Given the description of an element on the screen output the (x, y) to click on. 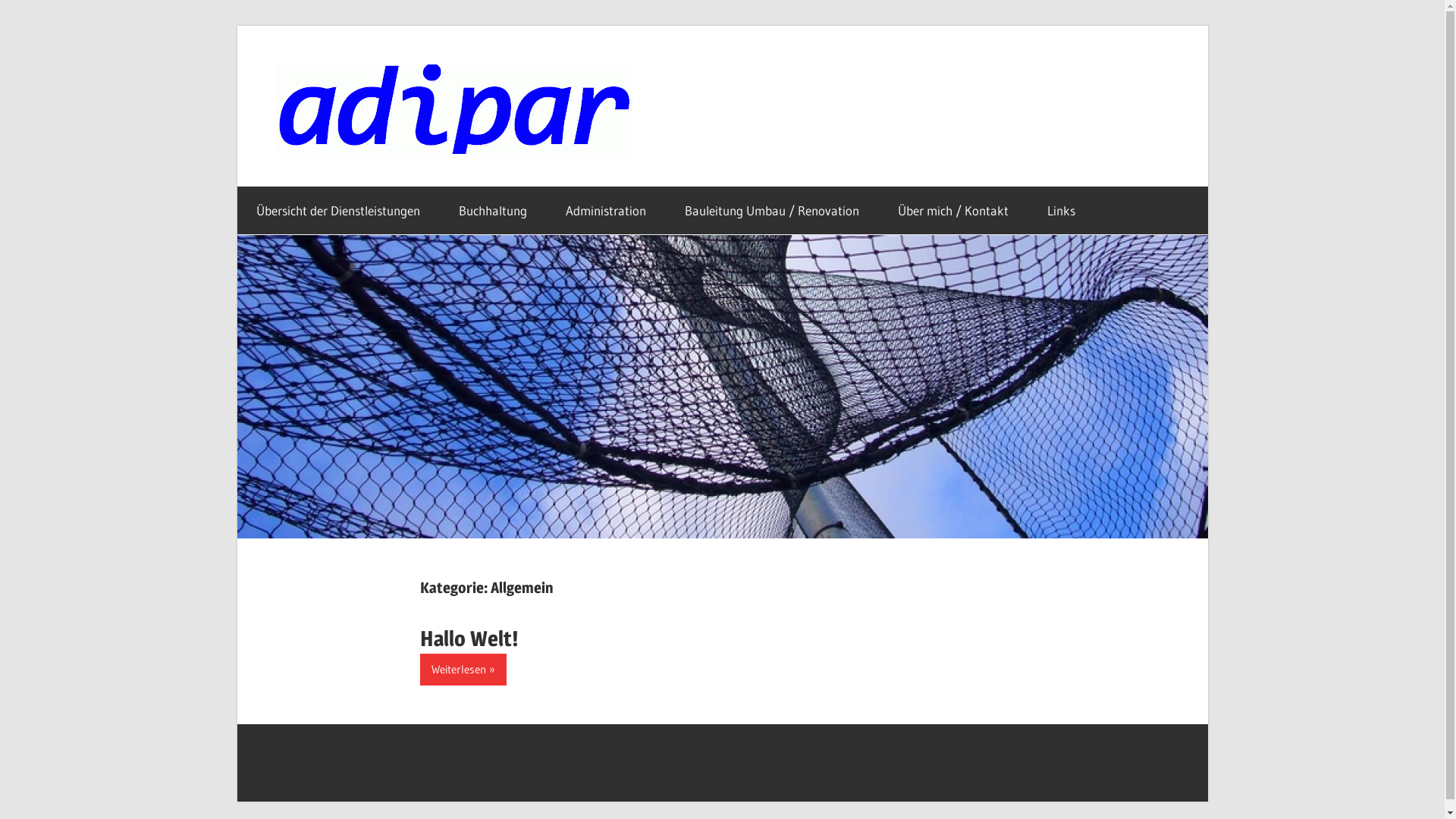
Zum Inhalt springen Element type: text (236, 25)
Links Element type: text (1061, 210)
Weiterlesen Element type: text (463, 668)
Administration Element type: text (605, 210)
Hallo Welt! Element type: text (469, 638)
Buchhaltung Element type: text (492, 210)
Bauleitung Umbau / Renovation Element type: text (771, 210)
